Given the description of an element on the screen output the (x, y) to click on. 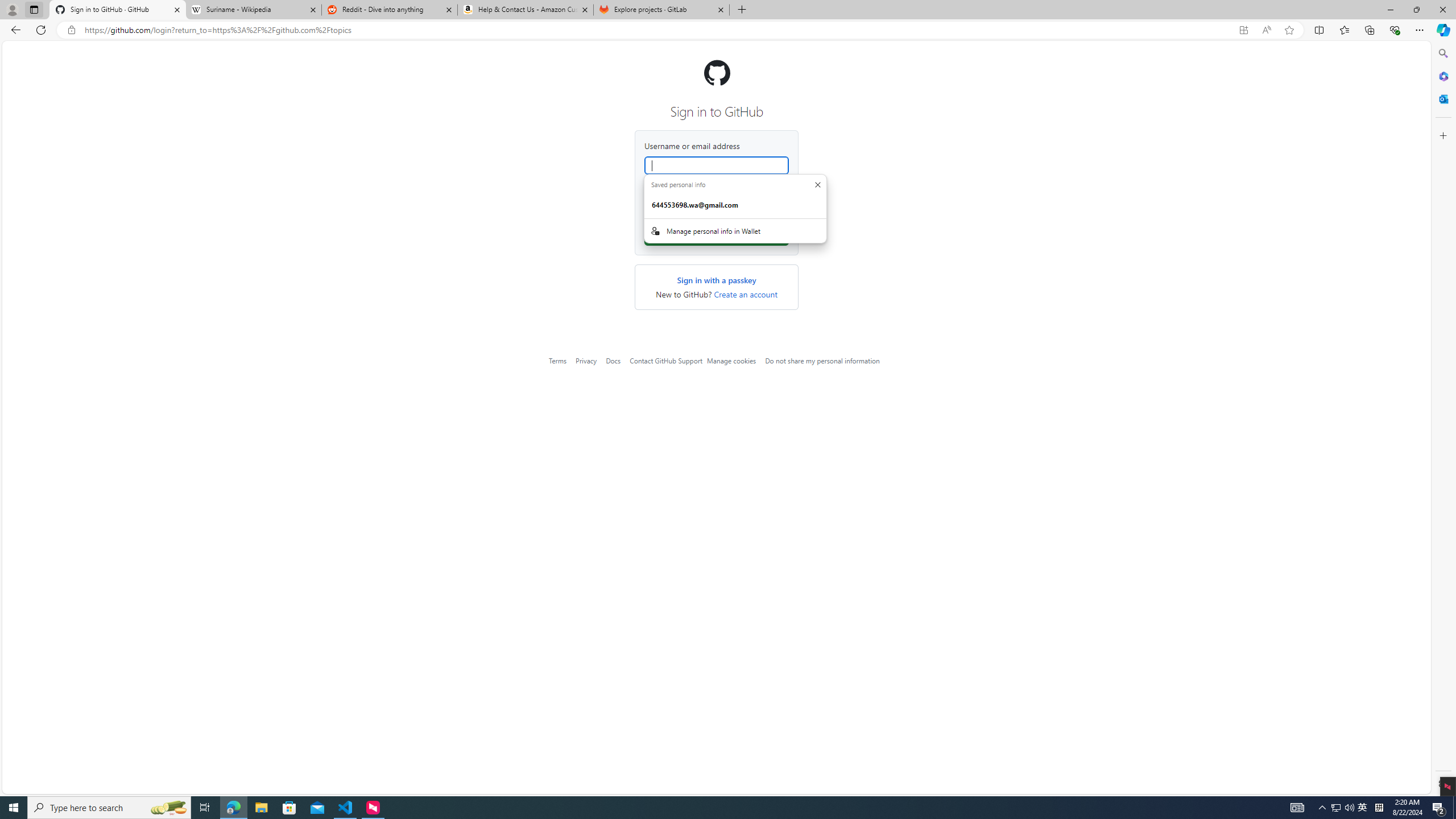
App available. Install GitHub (1243, 29)
Sign in (717, 236)
Do not share my personal information (821, 360)
Create an account (745, 294)
Contact GitHub Support (664, 360)
Forgot password? (762, 188)
Terms (557, 360)
Do not share my personal information (821, 360)
